Given the description of an element on the screen output the (x, y) to click on. 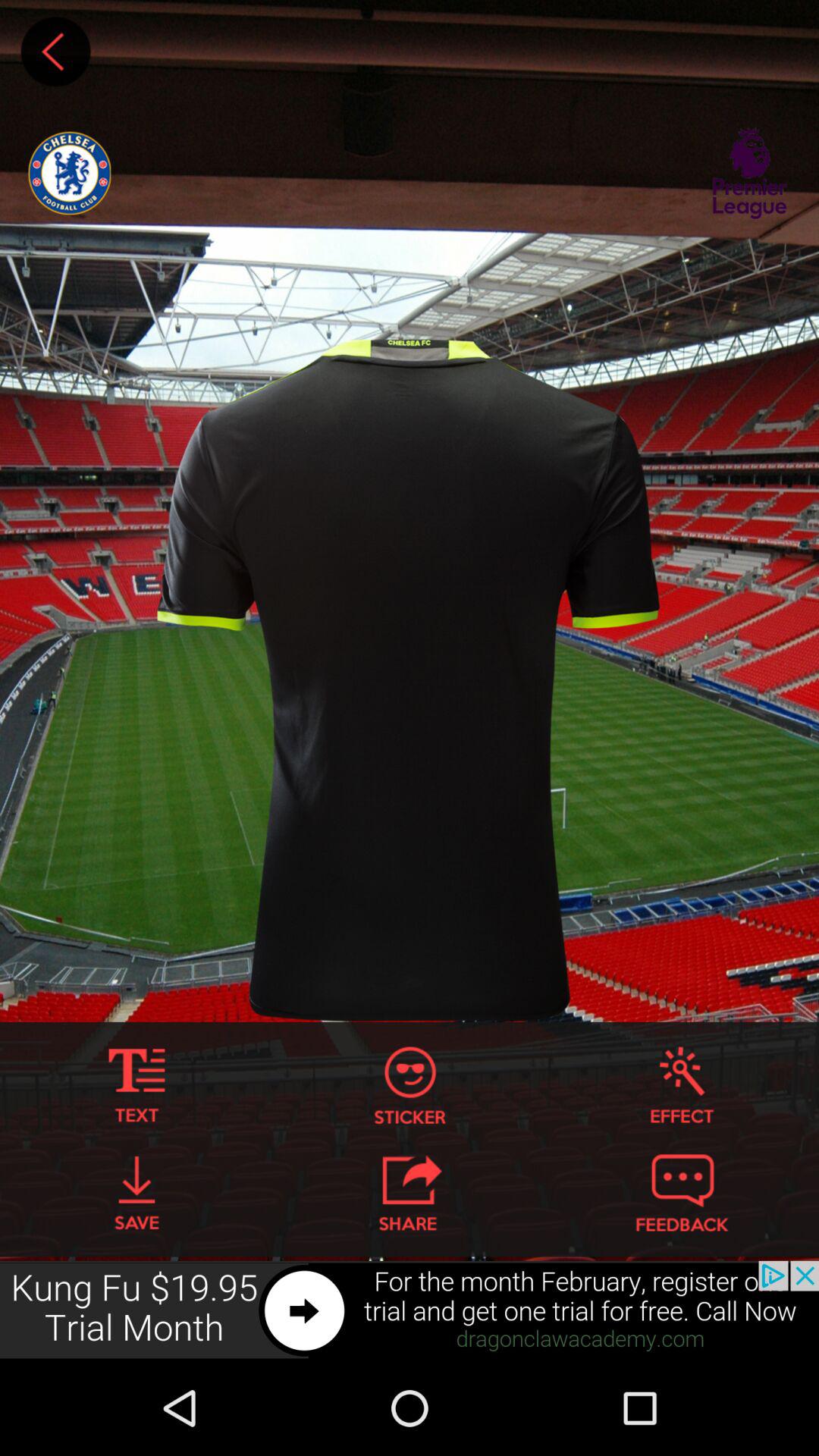
add text (136, 1085)
